Given the description of an element on the screen output the (x, y) to click on. 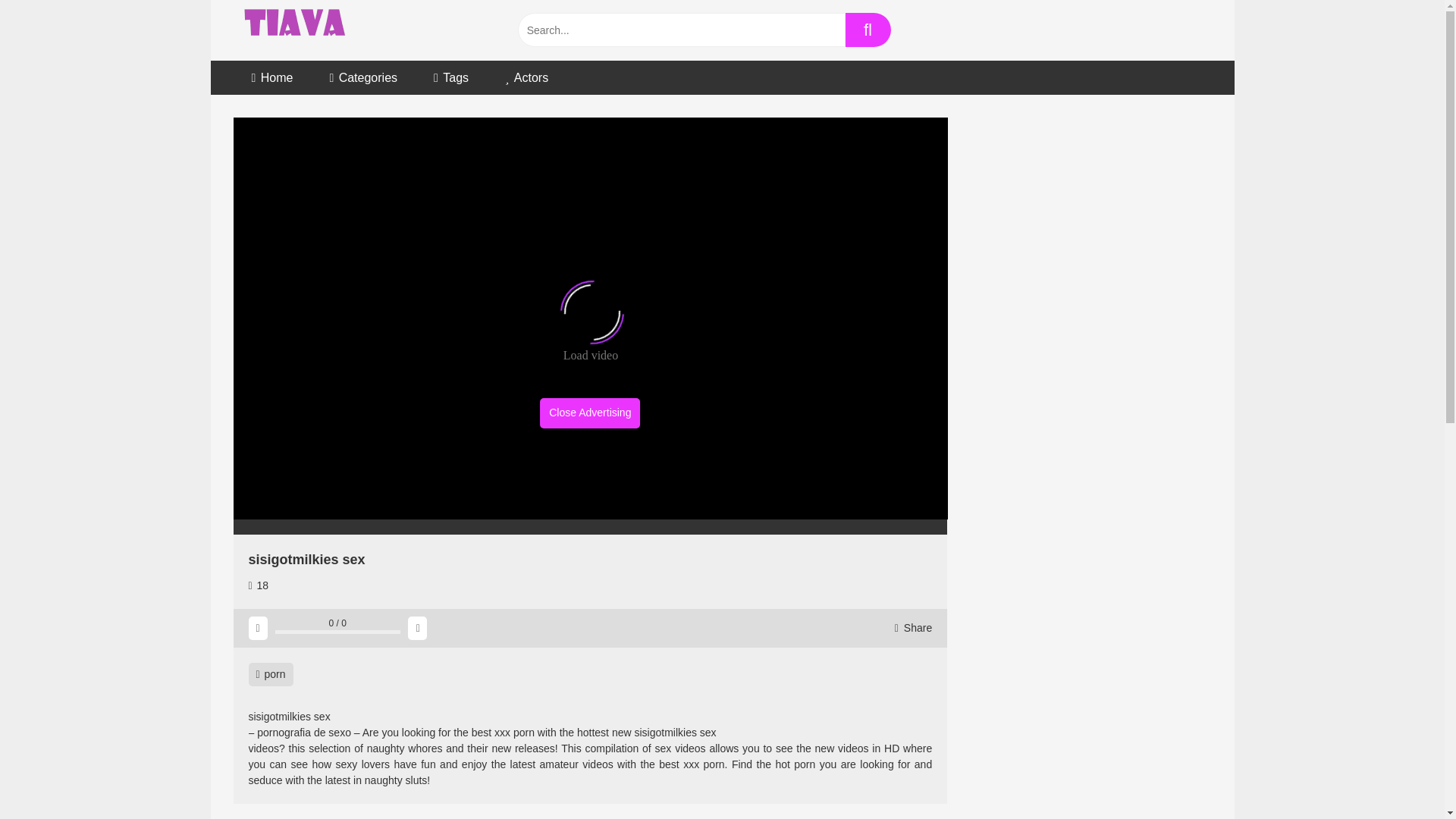
Actors (526, 77)
Home (271, 77)
Search... (680, 29)
porn (271, 674)
Share (913, 627)
Tags (450, 77)
videos porn xxx Tiava (295, 30)
Close Advertising (590, 413)
porn (271, 674)
Categories (362, 77)
